Given the description of an element on the screen output the (x, y) to click on. 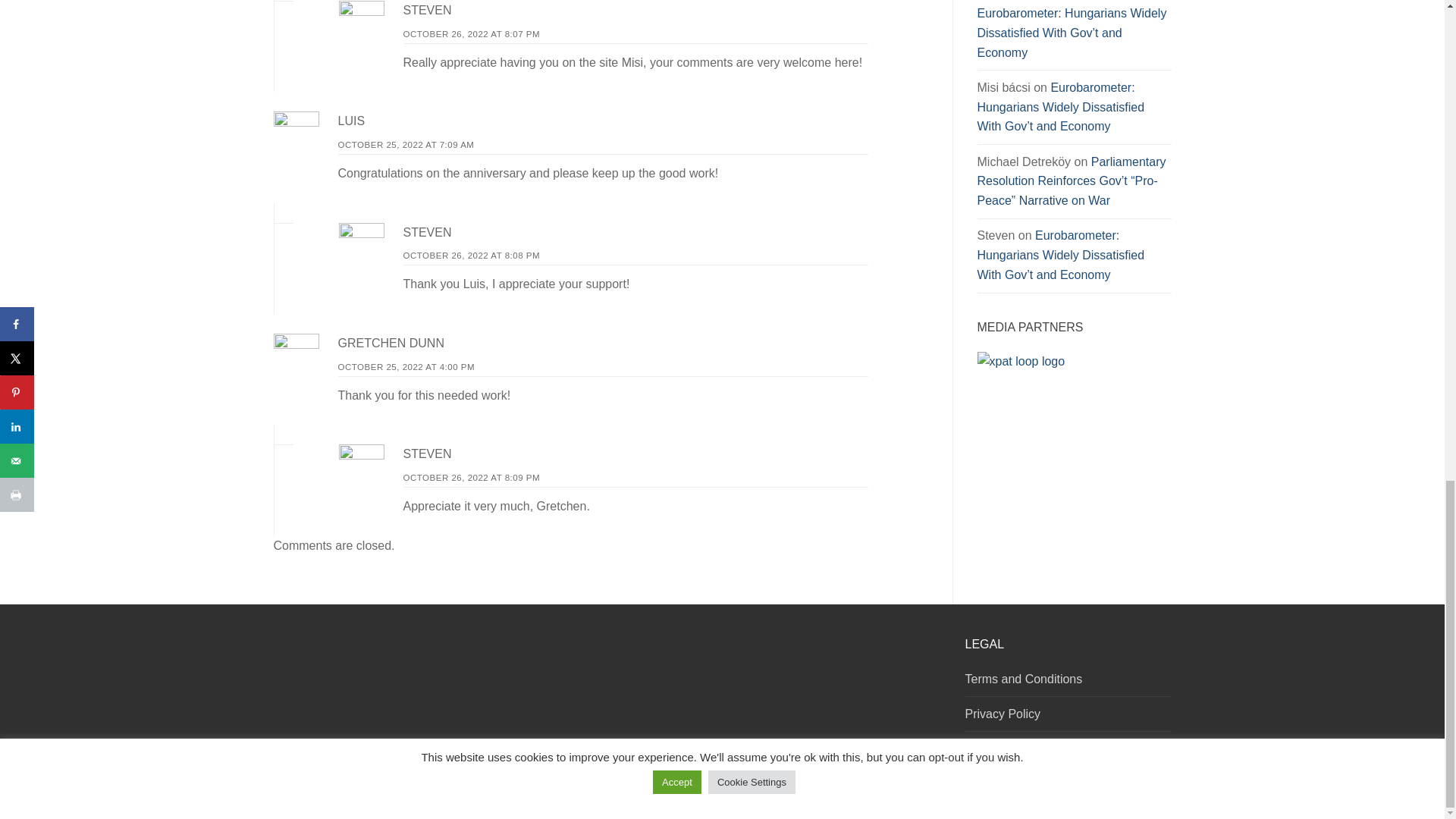
Facebook (896, 791)
Youtube (932, 791)
Twitter (915, 791)
